Given the description of an element on the screen output the (x, y) to click on. 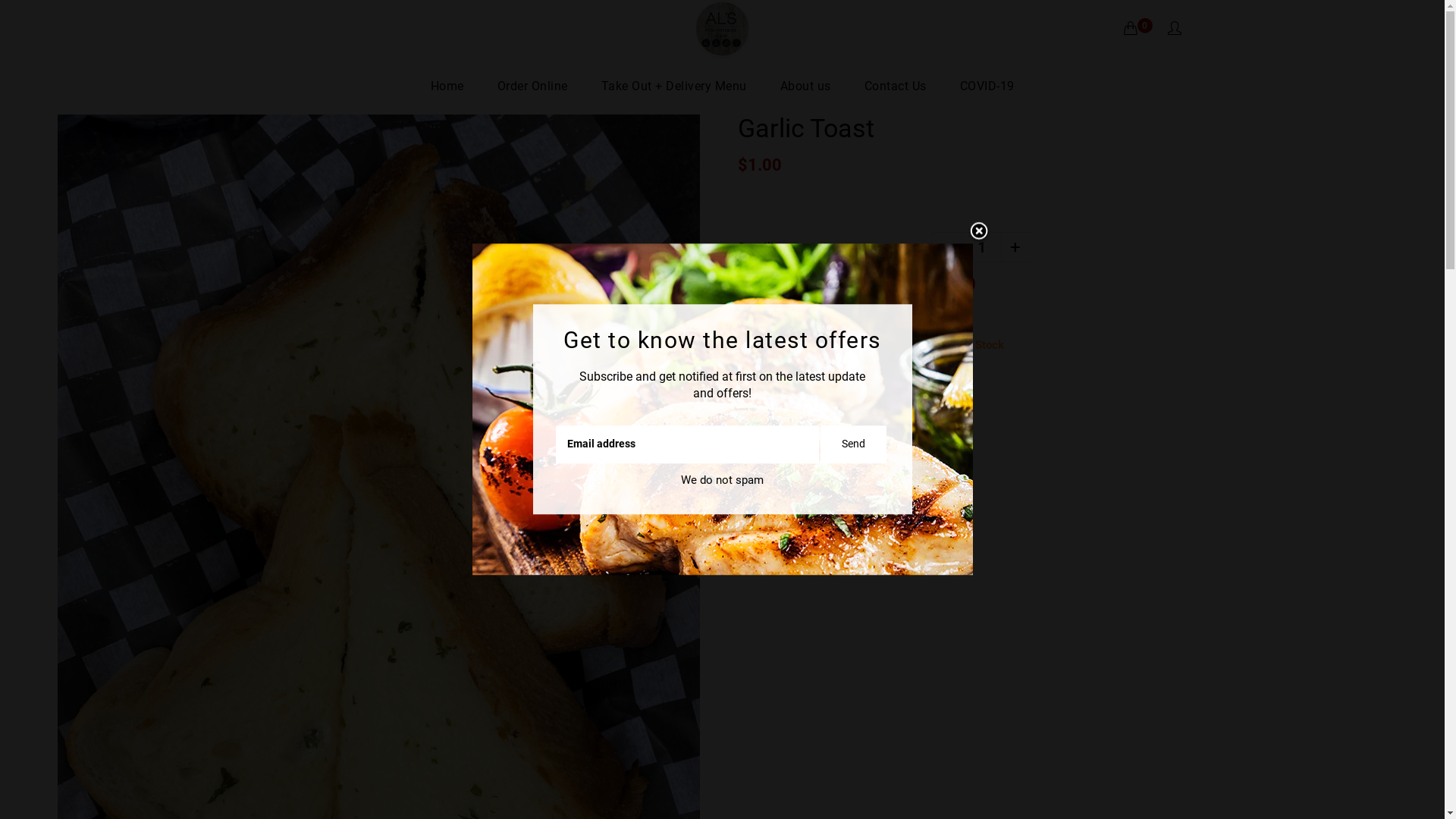
Add to Cart Element type: text (794, 397)
Contact Us Element type: text (895, 85)
About us Element type: text (804, 85)
Send Element type: text (853, 444)
0 Element type: text (1134, 27)
Log in Element type: hover (1174, 28)
Take Out + Delivery Menu Element type: text (673, 85)
COVID-19 Element type: text (986, 85)
Buy it now Element type: text (907, 397)
Home Element type: text (447, 85)
Order Online Element type: text (532, 85)
